Given the description of an element on the screen output the (x, y) to click on. 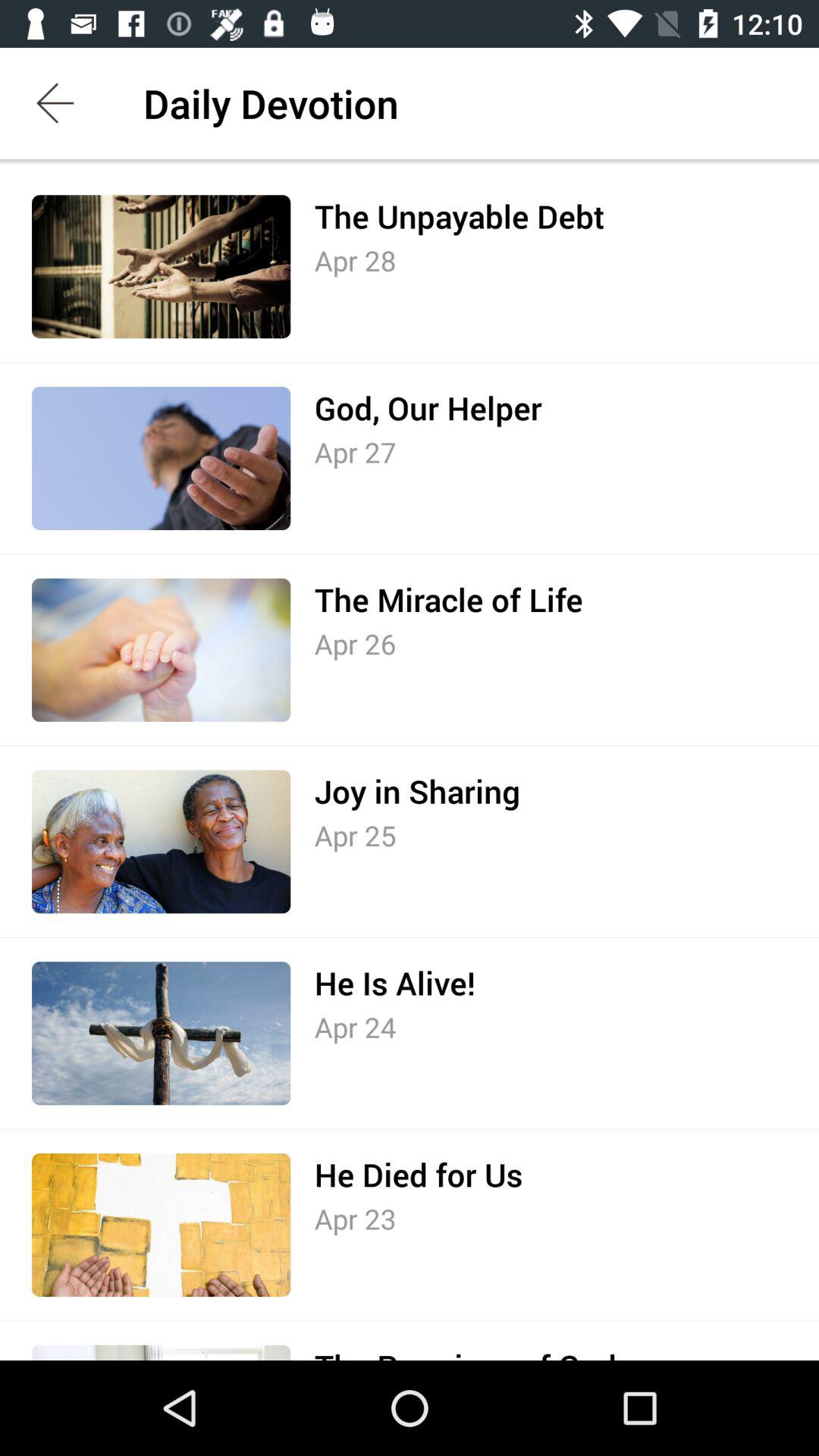
tap the icon to the left of daily devotion (55, 103)
